Given the description of an element on the screen output the (x, y) to click on. 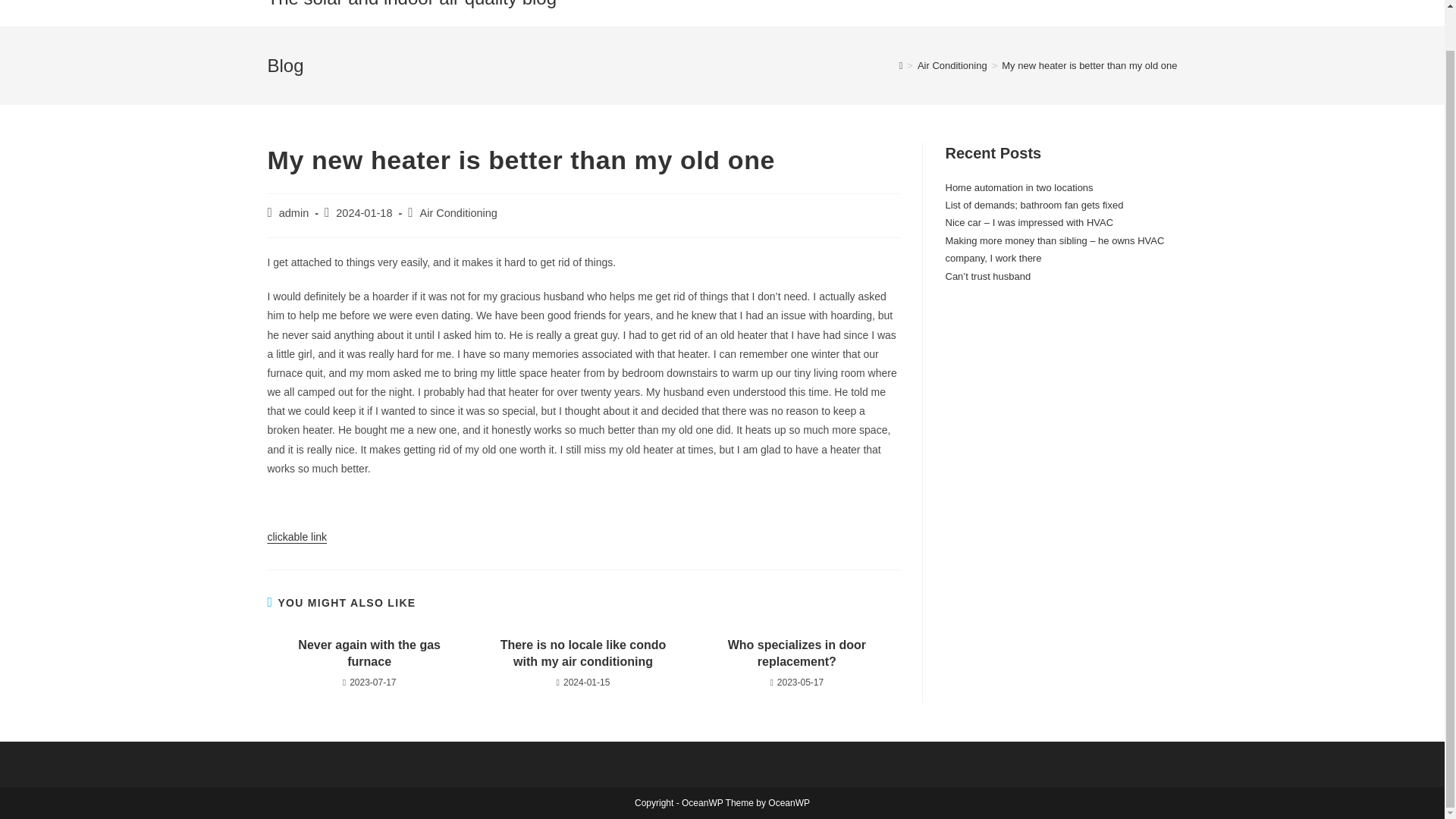
Posts by admin (293, 213)
Air Conditioning (952, 65)
Who specializes in door replacement? (796, 653)
admin (293, 213)
My new heater is better than my old one (1088, 65)
There is no locale like condo with my air conditioning (582, 653)
Home automation in two locations (1018, 187)
The solar and indoor air quality blog (411, 4)
List of demands; bathroom fan gets fixed (1033, 204)
Air Conditioning (458, 213)
Never again with the gas furnace (368, 653)
clickable link (296, 536)
